Given the description of an element on the screen output the (x, y) to click on. 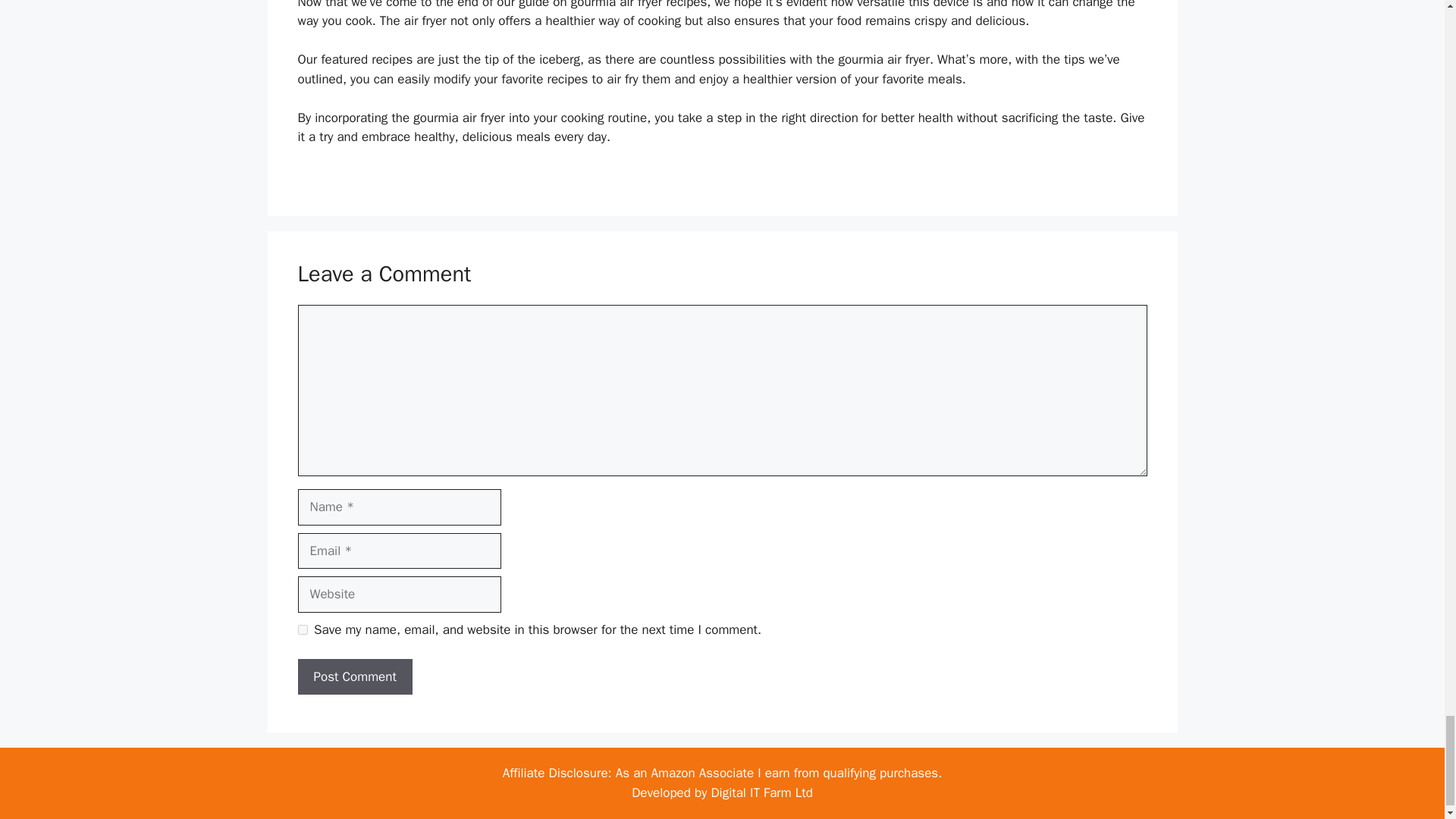
Digital IT Farm Ltd (761, 792)
Post Comment (354, 677)
Post Comment (354, 677)
yes (302, 629)
